Given the description of an element on the screen output the (x, y) to click on. 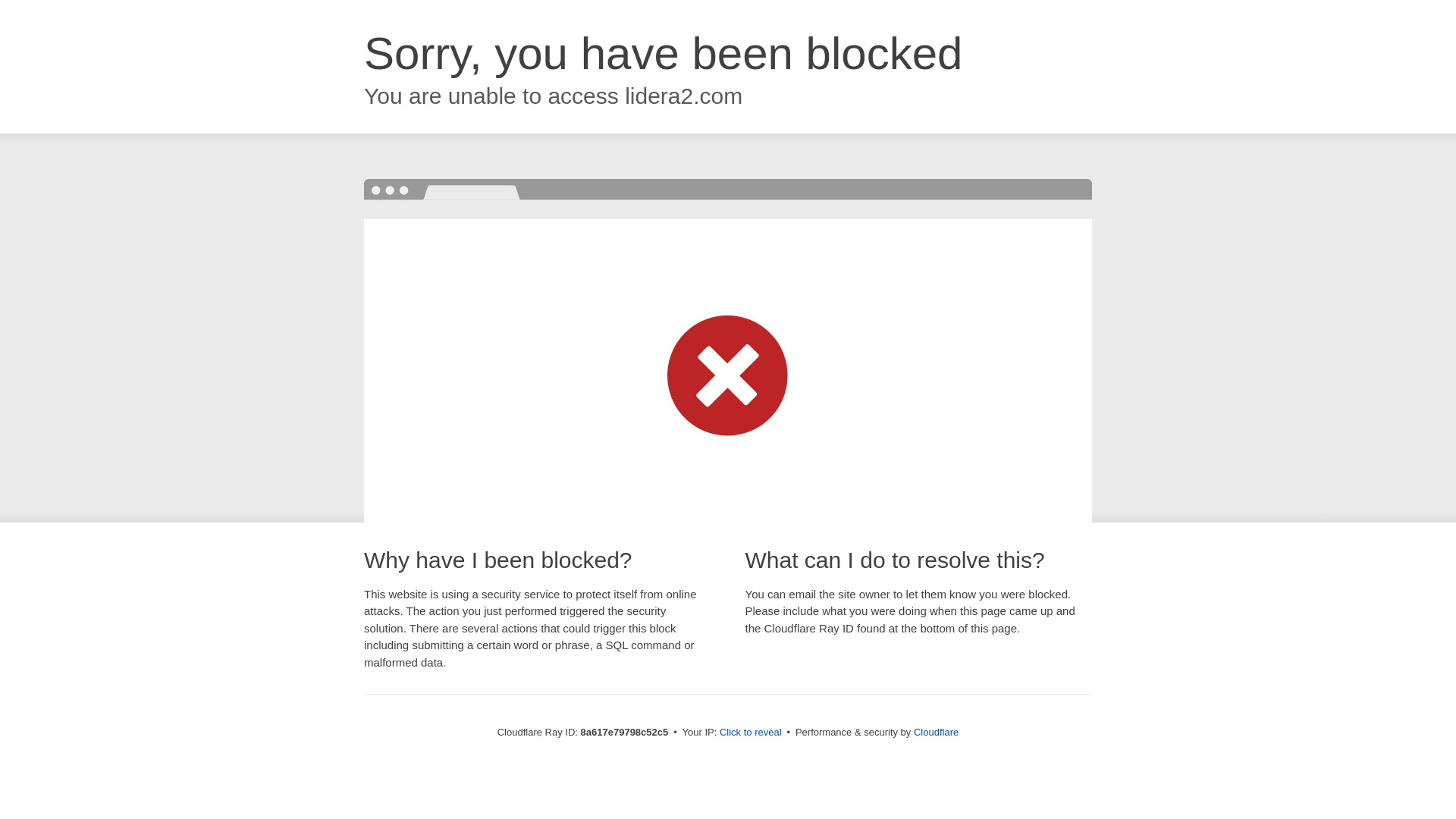
Click to reveal (750, 732)
Cloudflare (936, 731)
